Given the description of an element on the screen output the (x, y) to click on. 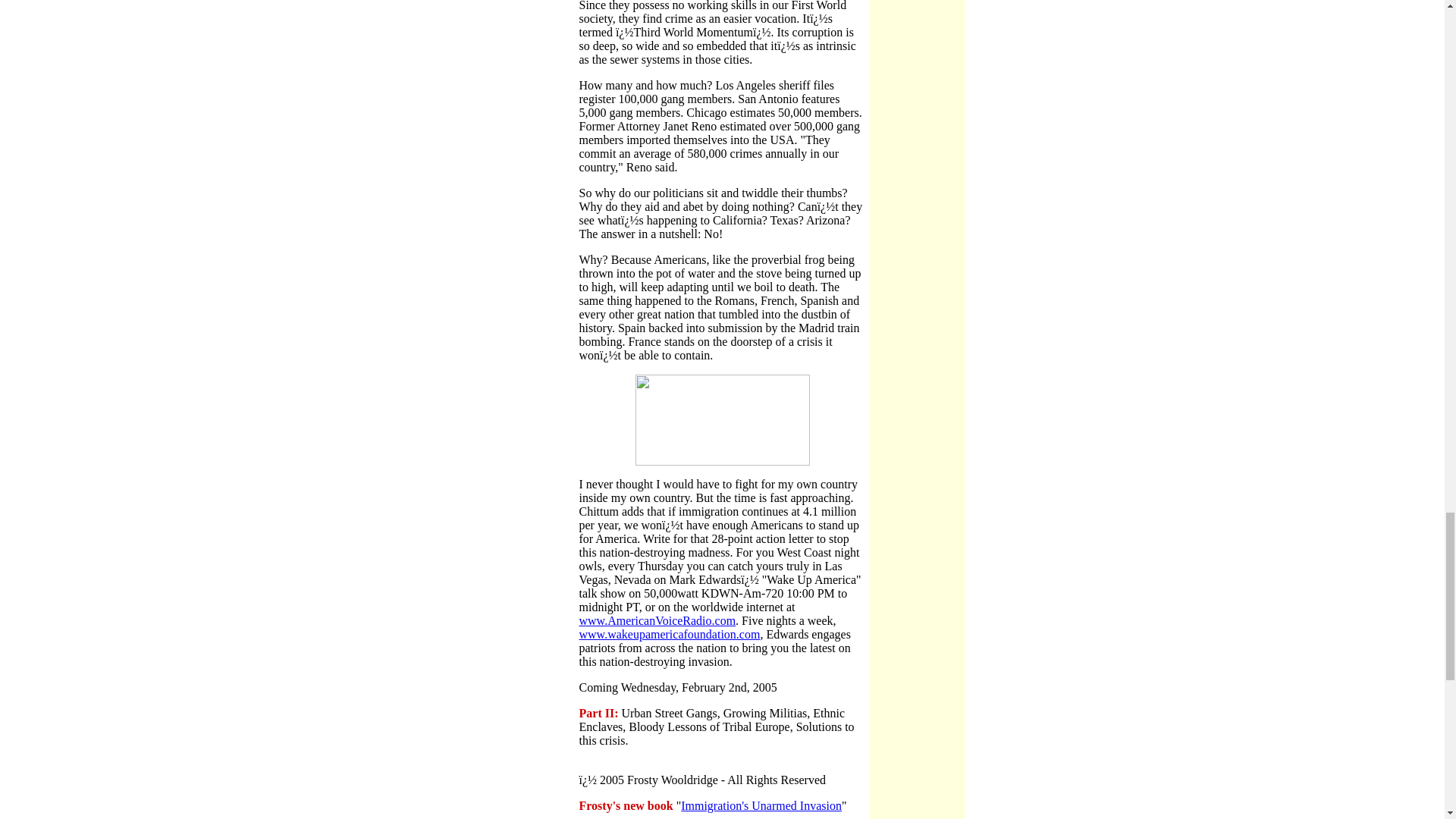
www.AmericanVoiceRadio.com (657, 620)
www.wakeupamericafoundation.com (669, 634)
Immigration's Unarmed Invasion (761, 805)
